Given the description of an element on the screen output the (x, y) to click on. 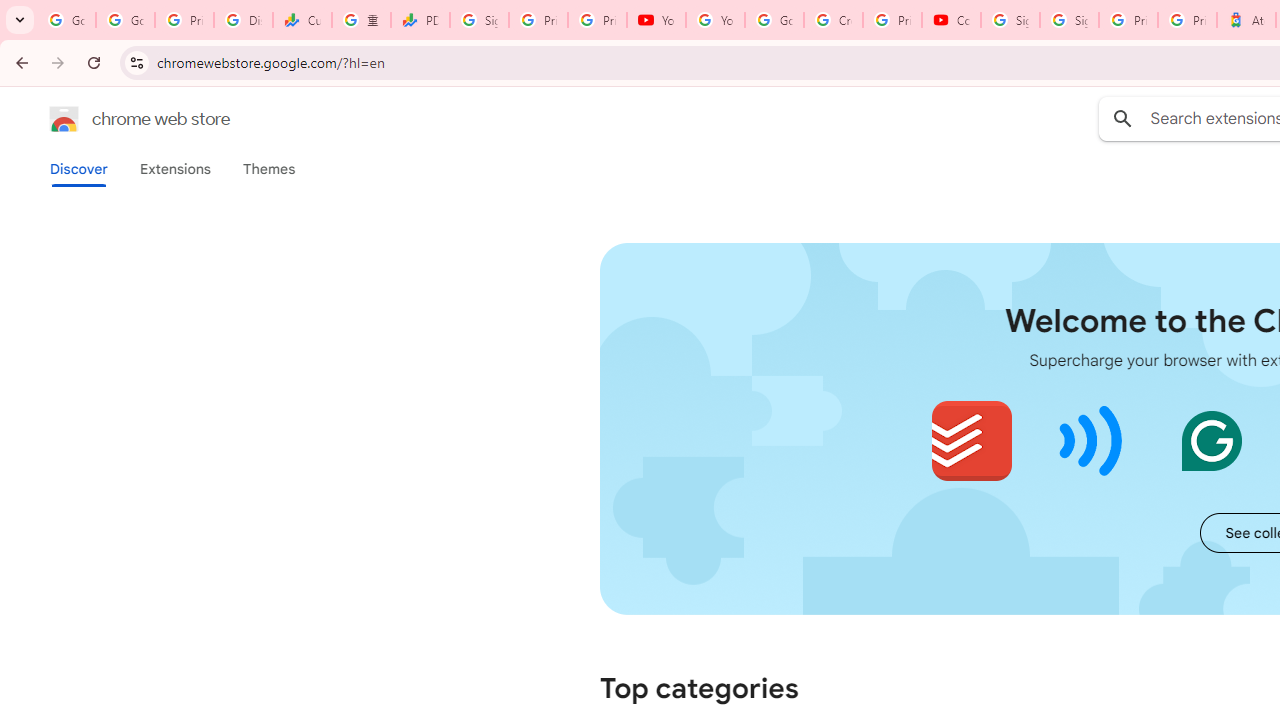
Chrome Web Store logo chrome web store (118, 118)
Create your Google Account (832, 20)
Discover (79, 169)
Volume Master (1091, 440)
Content Creator Programs & Opportunities - YouTube Creators (950, 20)
Todoist for Chrome (971, 440)
